Given the description of an element on the screen output the (x, y) to click on. 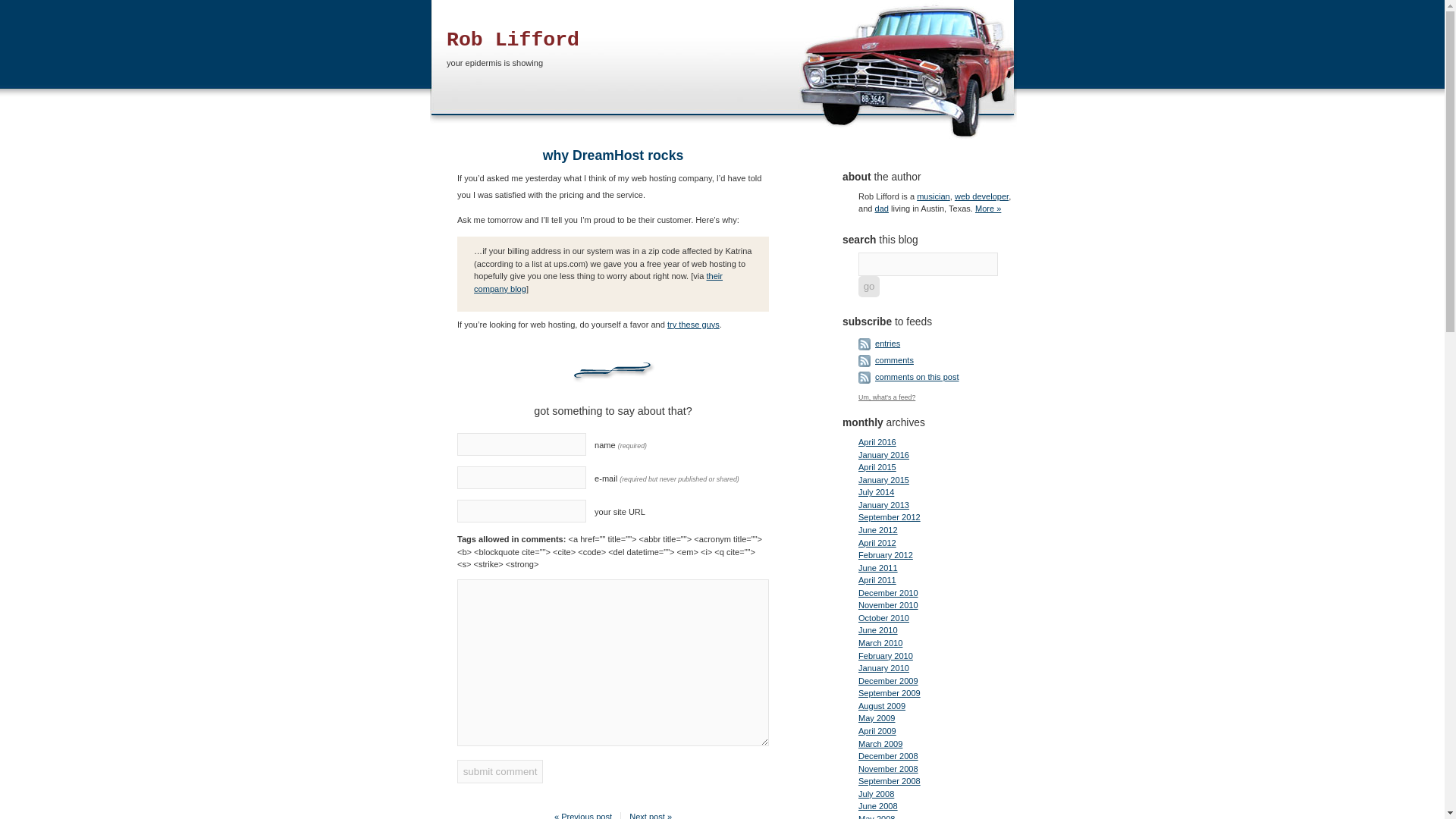
entries (887, 344)
January 2010 (883, 667)
January 2013 (883, 504)
subscribe to feeds (887, 321)
try these guys (692, 324)
January 2015 (883, 479)
web developer (982, 195)
April 2012 (877, 542)
January 2016 (883, 454)
Rob Lifford (512, 39)
December 2010 (888, 592)
go (869, 286)
about the author (882, 176)
monthly archives (883, 422)
April 2011 (877, 579)
